Given the description of an element on the screen output the (x, y) to click on. 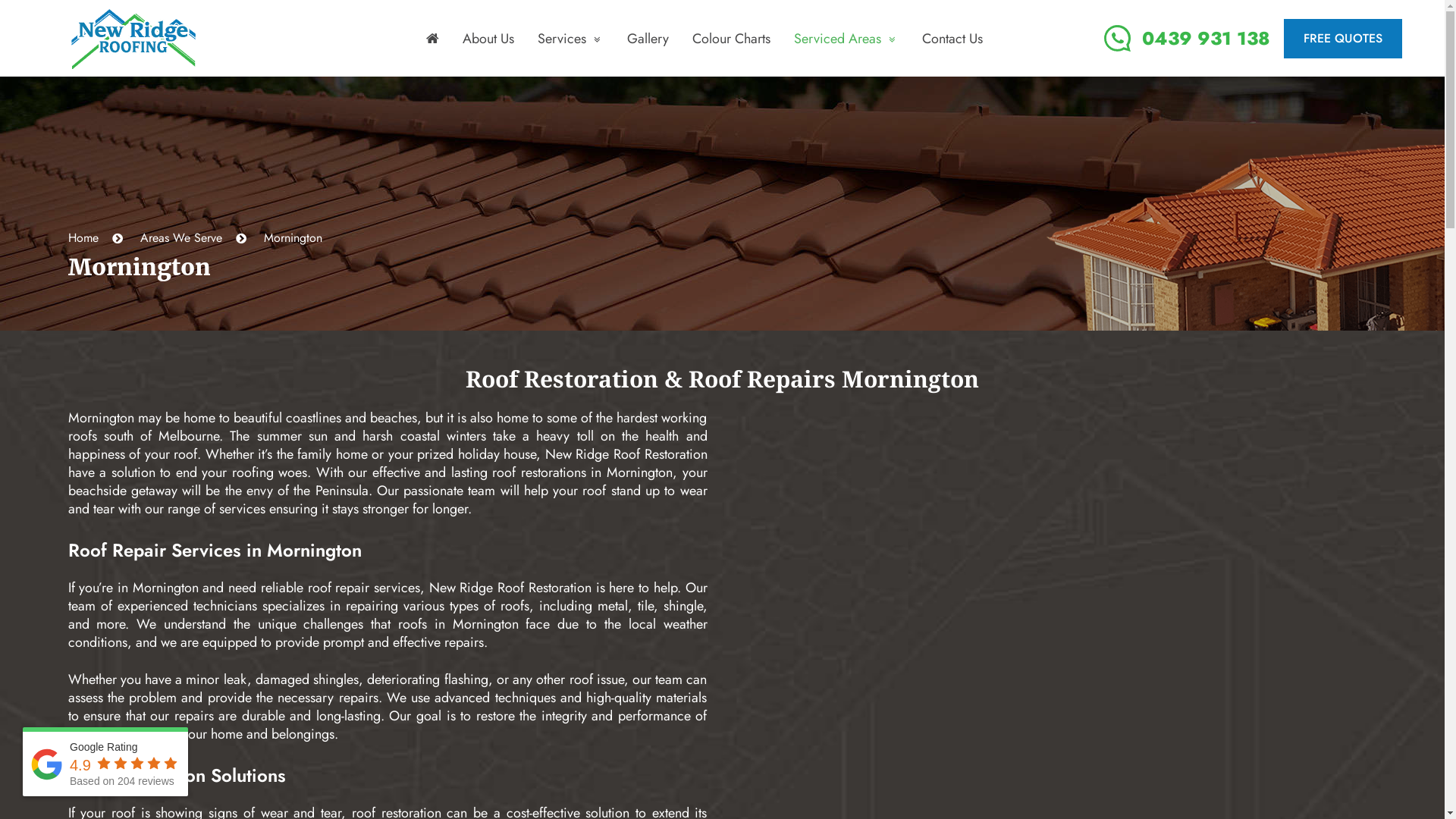
Colour Charts Element type: text (731, 38)
Serviced Areas Element type: text (846, 38)
Contact Us Element type: text (952, 38)
0439 931 138 Element type: text (1187, 38)
Gallery Element type: text (647, 38)
FREE QUOTES Element type: text (1342, 37)
Home Element type: text (83, 237)
Services Element type: text (570, 38)
Areas We Serve Element type: text (180, 237)
About Us Element type: text (488, 38)
